Given the description of an element on the screen output the (x, y) to click on. 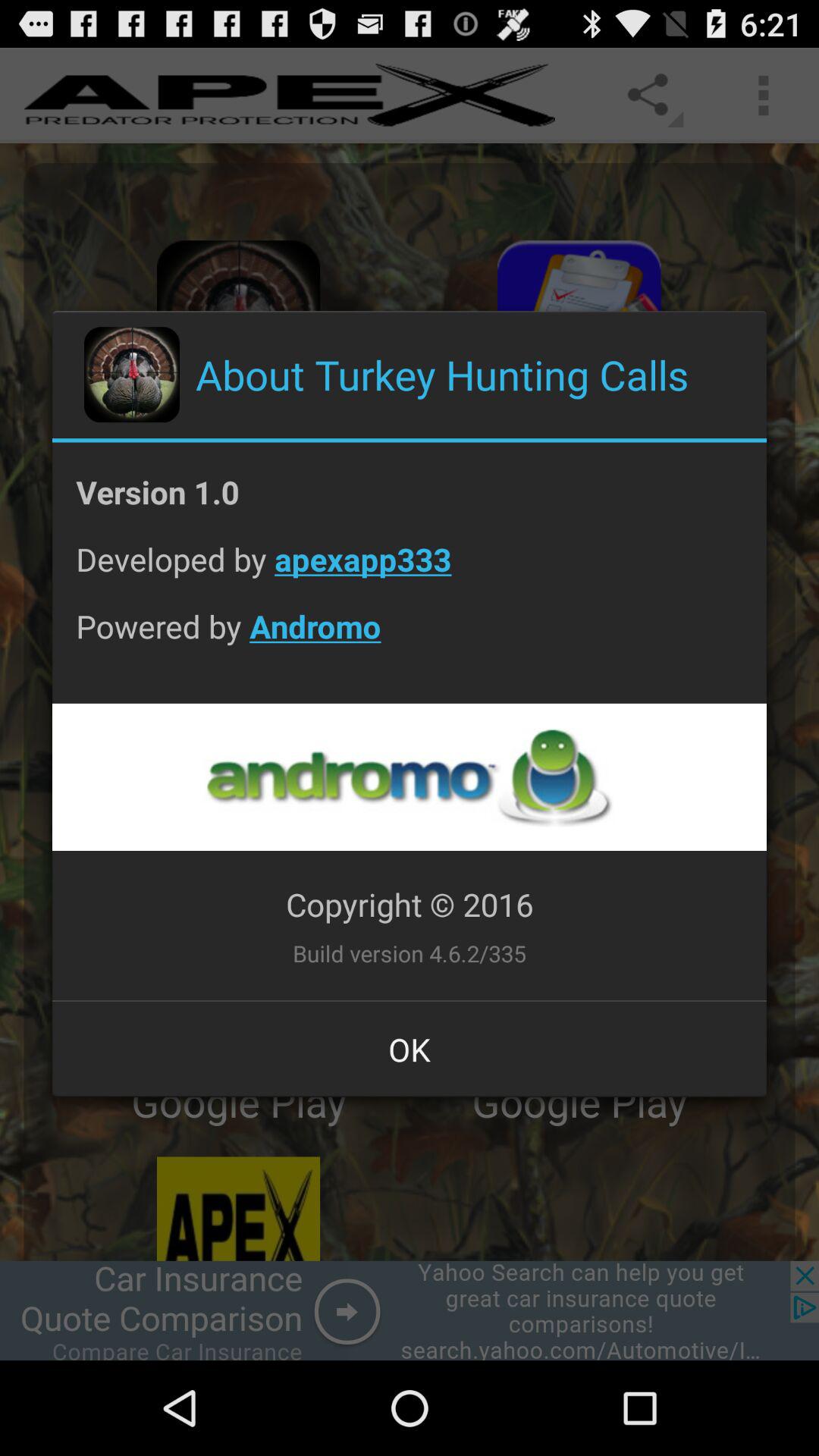
select the icon below the powered by andromo item (408, 776)
